Given the description of an element on the screen output the (x, y) to click on. 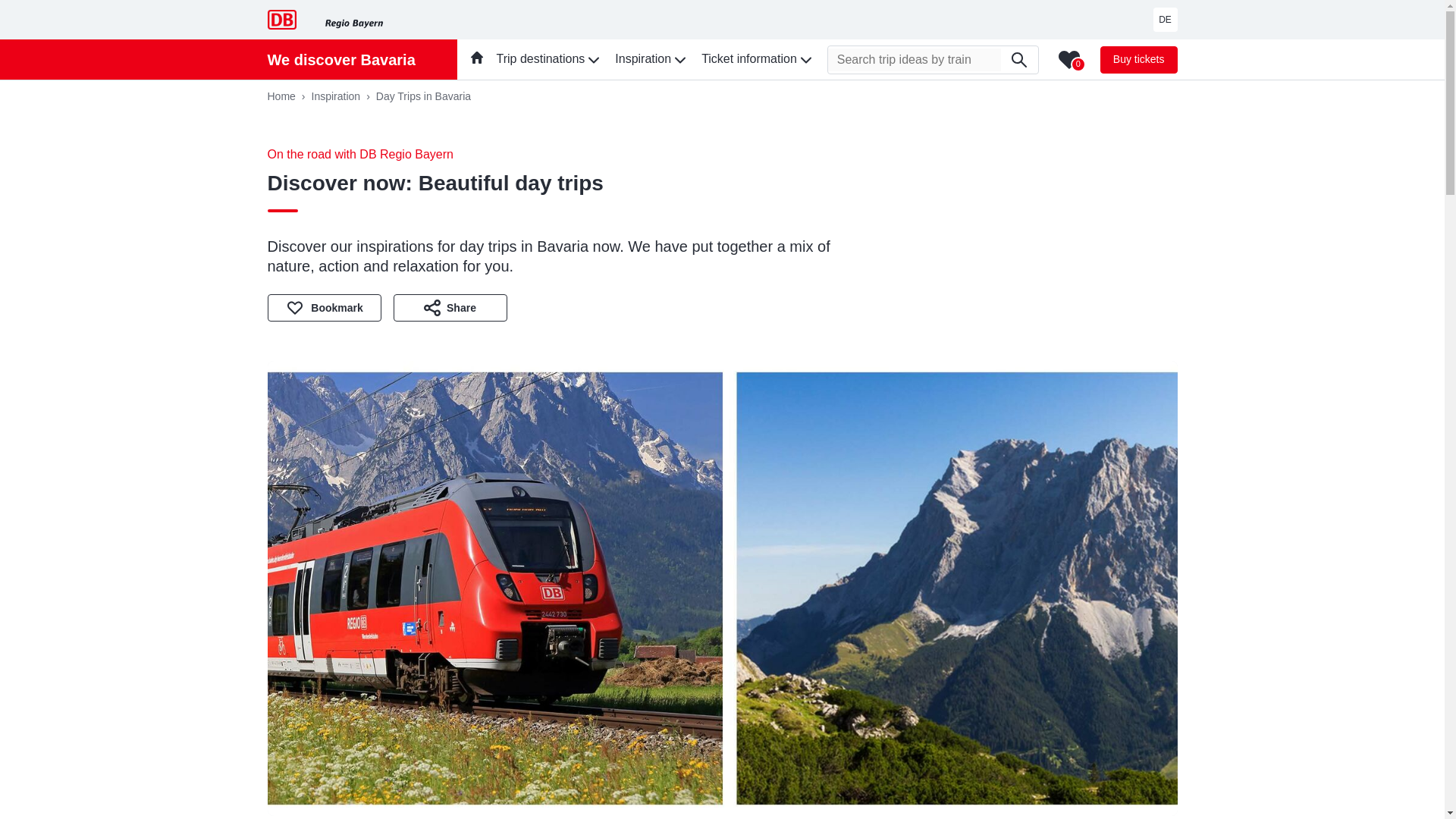
Inspiration (343, 96)
Bookmark (323, 307)
Day Trips in Bavaria (422, 96)
0 (1069, 58)
Day Trips in Bavaria (422, 96)
Buy tickets (1138, 58)
Trip destinations (549, 59)
Share (449, 307)
Inspiration (651, 59)
Home (288, 96)
DE (1164, 19)
Inspiration (343, 96)
Home (288, 96)
We discover Bavaria (340, 59)
Search (1019, 58)
